Given the description of an element on the screen output the (x, y) to click on. 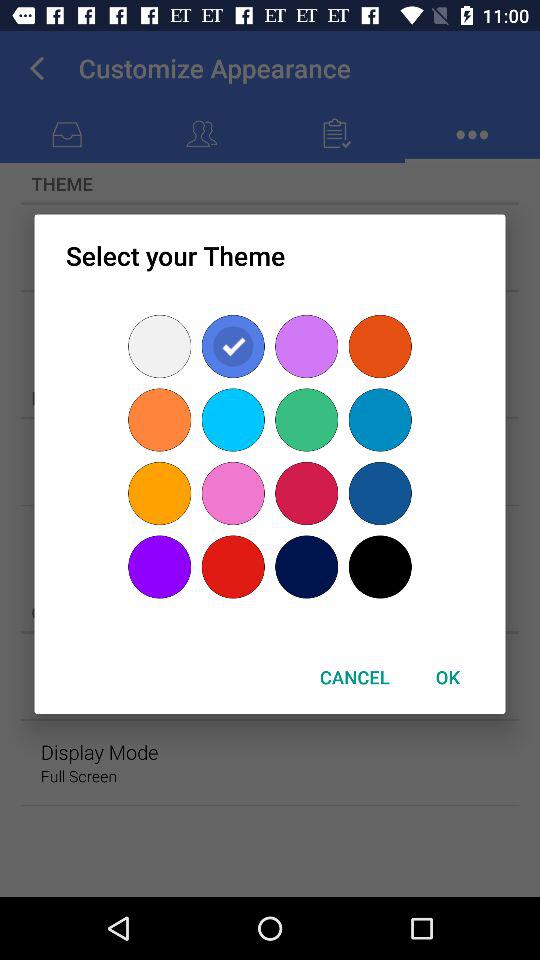
turn off item next to cancel icon (447, 676)
